Given the description of an element on the screen output the (x, y) to click on. 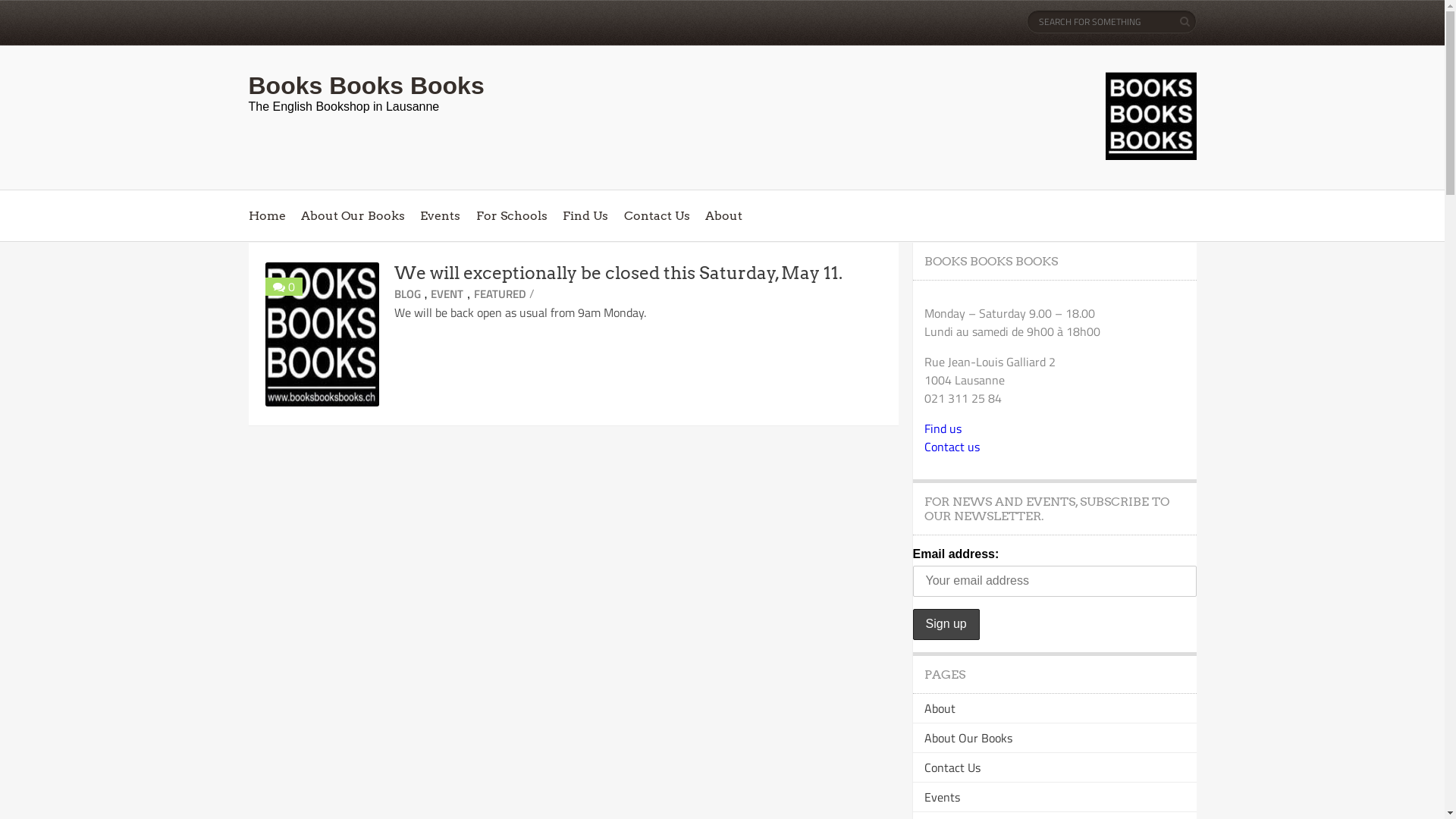
0 Element type: text (291, 286)
Find us Element type: text (941, 428)
About Element type: text (938, 708)
We will exceptionally be closed this Saturday, May 11. Element type: text (618, 272)
About Our Books Element type: text (352, 215)
BLOG Element type: text (407, 293)
About Our Books Element type: text (967, 737)
Sign up Element type: text (946, 624)
English Bookshop Logo Element type: hover (1150, 116)
About Element type: text (723, 215)
Events Element type: text (941, 796)
EVENT Element type: text (446, 293)
Contact Us Element type: text (657, 215)
Contact us Element type: text (951, 446)
Contact Us Element type: text (951, 767)
FEATURED Element type: text (499, 293)
Events Element type: text (440, 215)
Home Element type: text (266, 215)
Books Books Books Element type: text (366, 85)
Find Us Element type: text (585, 215)
For Schools Element type: text (511, 215)
